Given the description of an element on the screen output the (x, y) to click on. 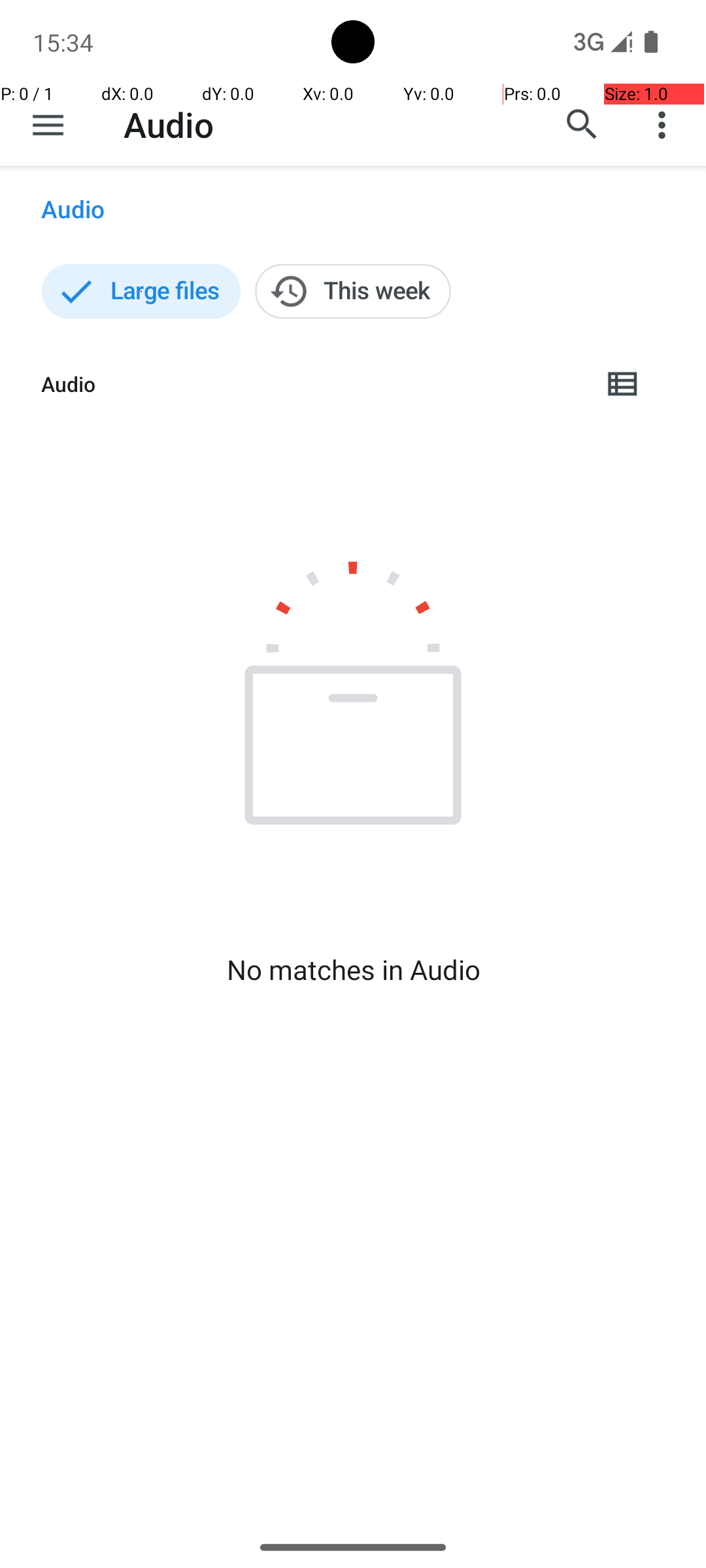
No matches in Audio Element type: android.widget.TextView (352, 968)
